Given the description of an element on the screen output the (x, y) to click on. 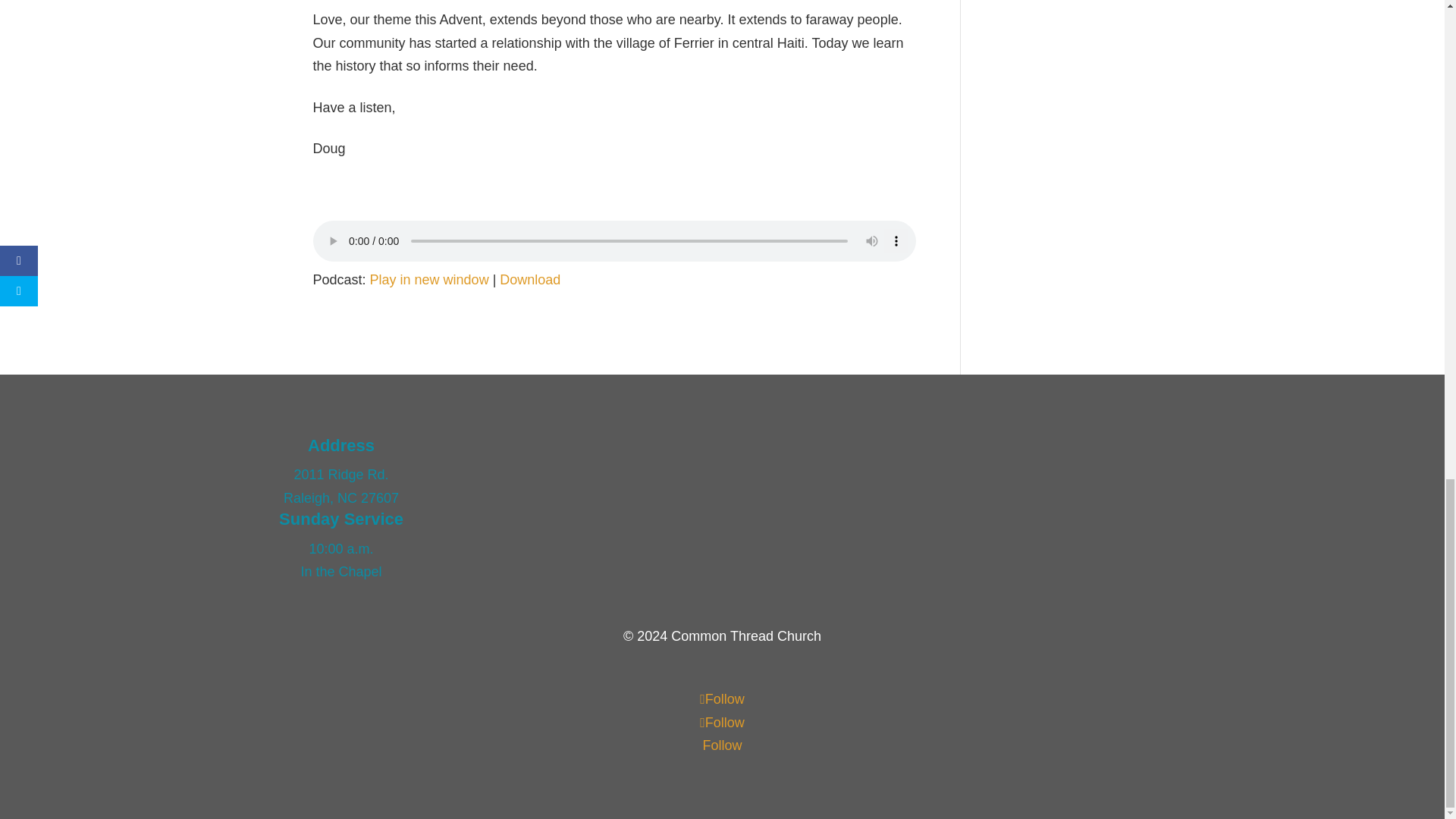
Play in new window (429, 279)
Follow on Facebook (722, 698)
Download (529, 279)
